Given the description of an element on the screen output the (x, y) to click on. 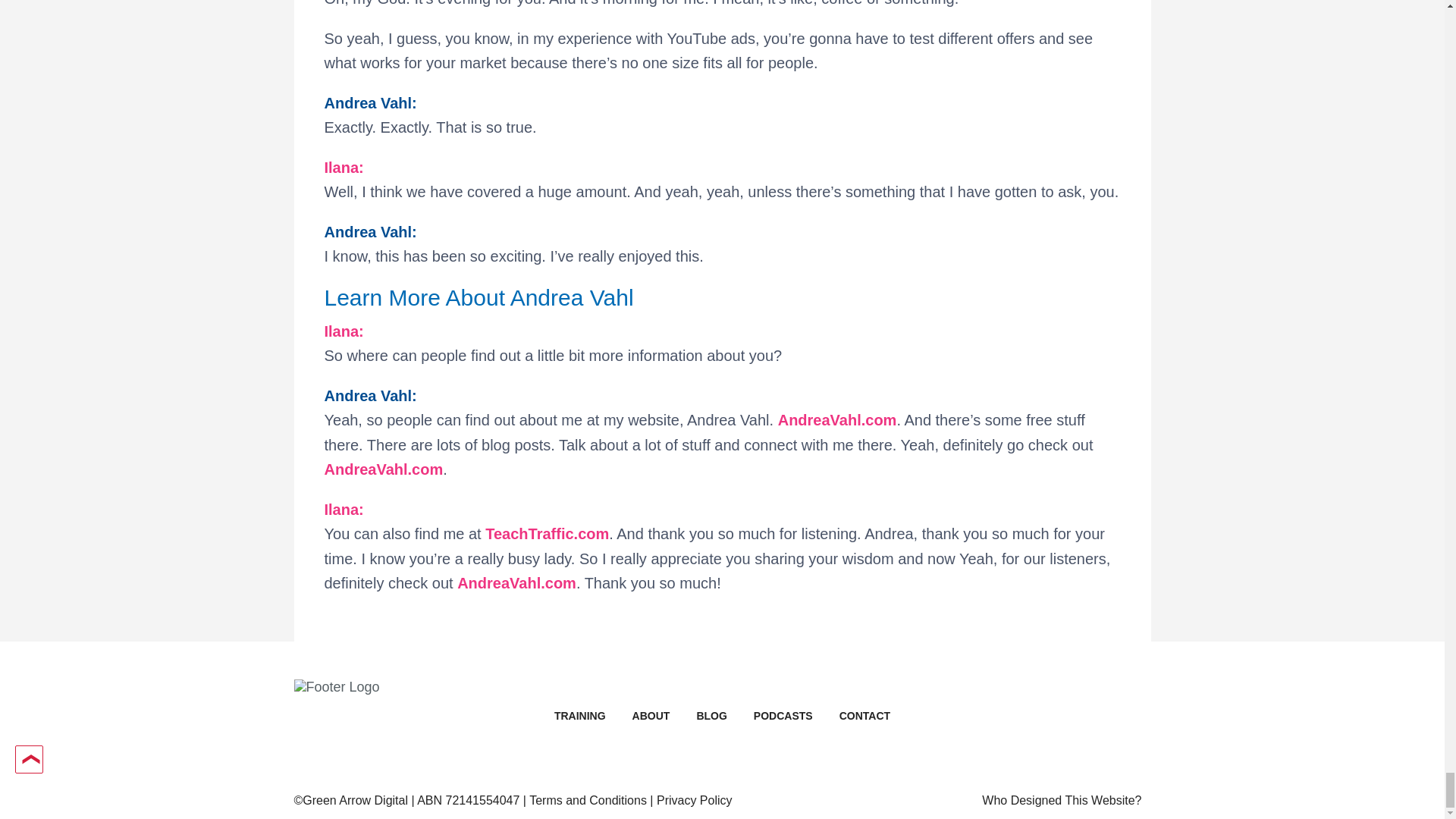
AndreaVahl.com (516, 582)
PODCASTS (783, 715)
TeachTraffic.com (546, 533)
BLOG (710, 715)
TRAINING (579, 715)
CONTACT (864, 715)
ABOUT (650, 715)
AndreaVahl.com (836, 419)
AndreaVahl.com (384, 469)
